Given the description of an element on the screen output the (x, y) to click on. 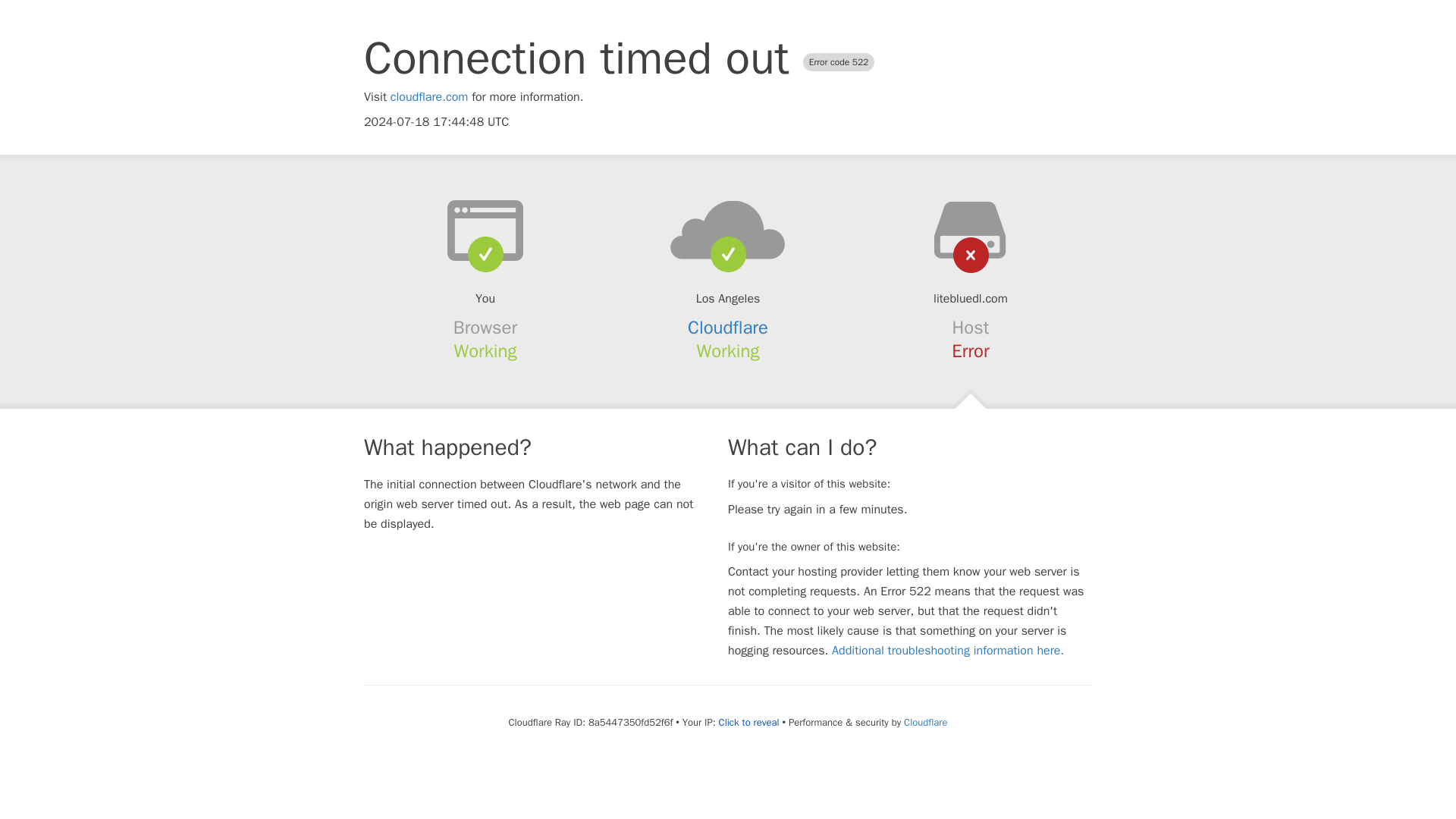
Click to reveal (748, 722)
Cloudflare (727, 327)
Additional troubleshooting information here. (947, 650)
cloudflare.com (429, 96)
Cloudflare (925, 721)
